Given the description of an element on the screen output the (x, y) to click on. 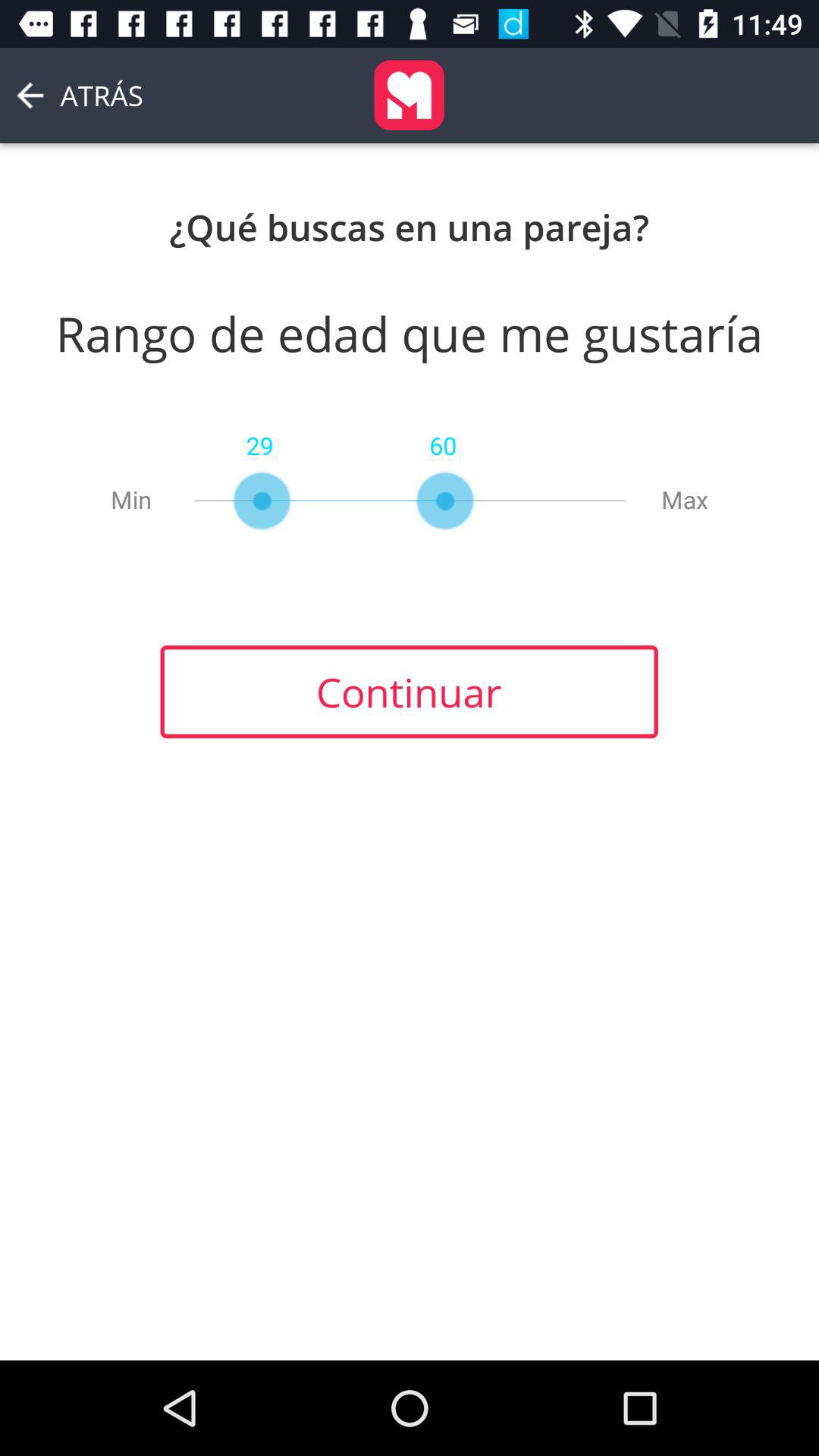
press item at the center (409, 691)
